Given the description of an element on the screen output the (x, y) to click on. 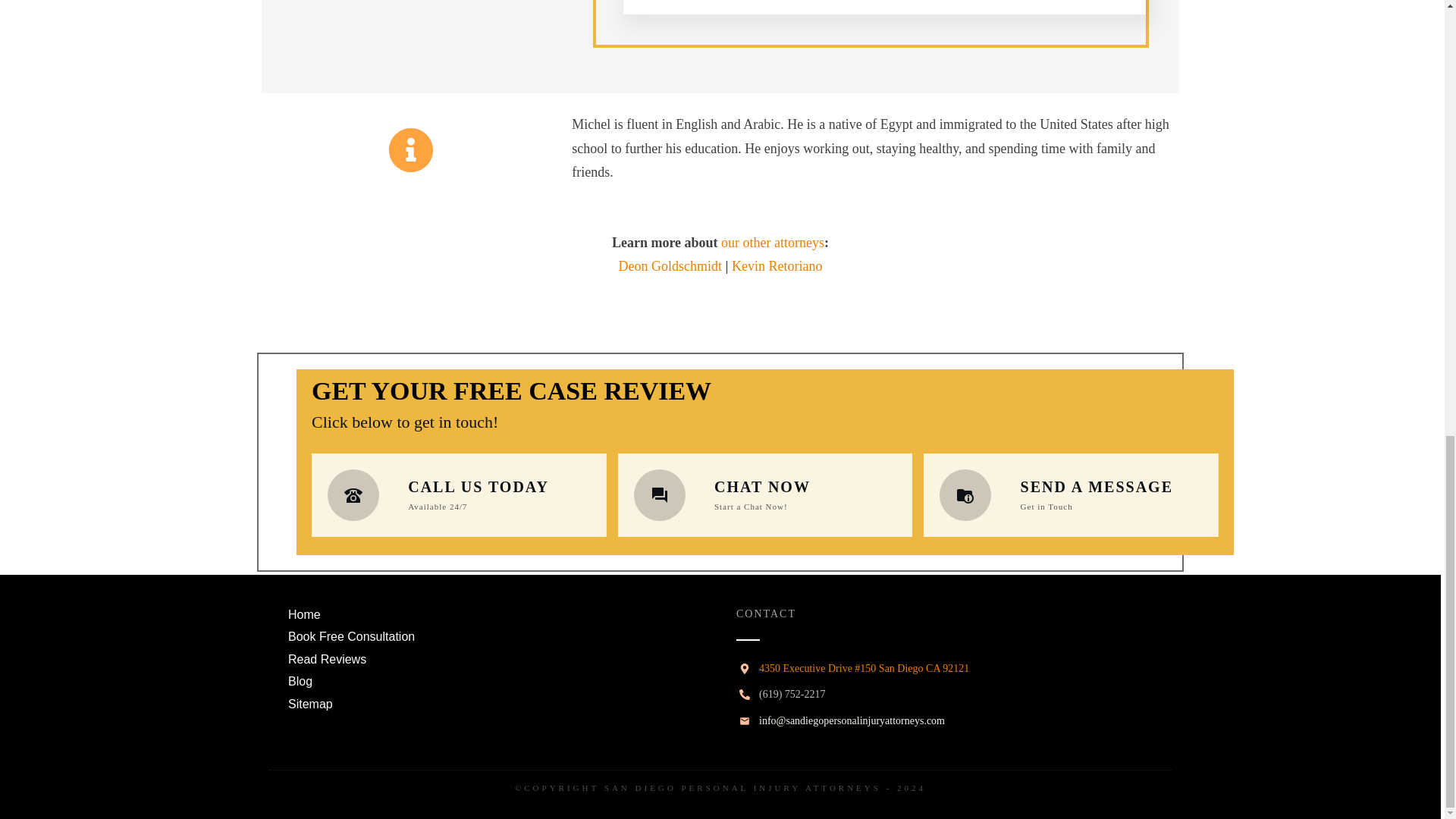
Deon Goldschmidt (670, 265)
Kevin Retoriano (777, 265)
Blog (300, 681)
Home (304, 614)
Book Free Consultation (351, 637)
Read Reviews (327, 659)
our other attorneys (772, 242)
